Given the description of an element on the screen output the (x, y) to click on. 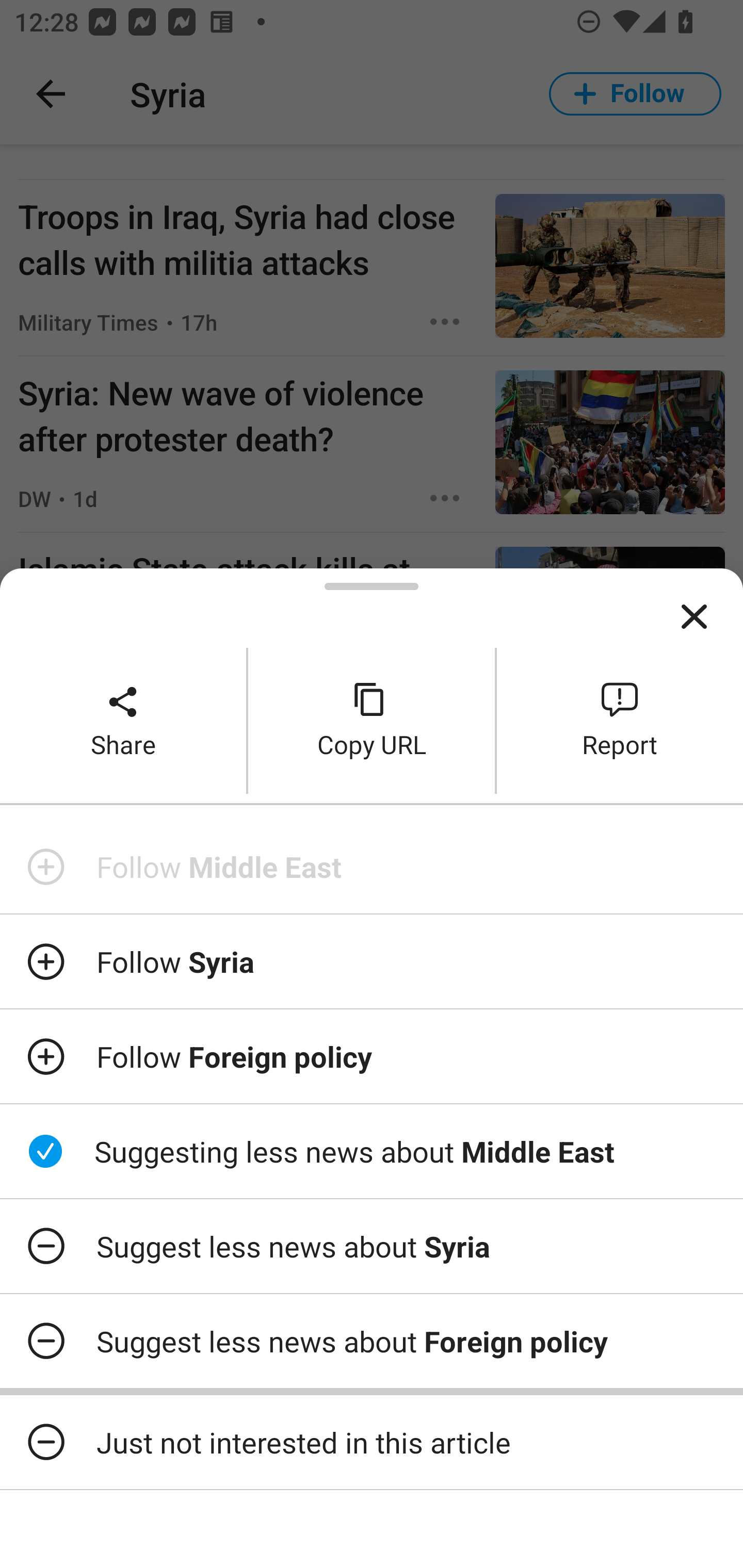
Close (694, 616)
Share (122, 720)
Copy URL (371, 720)
Report (620, 720)
Follow Middle East (371, 867)
Follow Syria (371, 961)
Follow Foreign policy (371, 1056)
Suggesting less news about Middle East (371, 1150)
Suggest less news about Syria (371, 1246)
Suggest less news about Foreign policy (371, 1340)
Just not interested in this article (371, 1442)
